Given the description of an element on the screen output the (x, y) to click on. 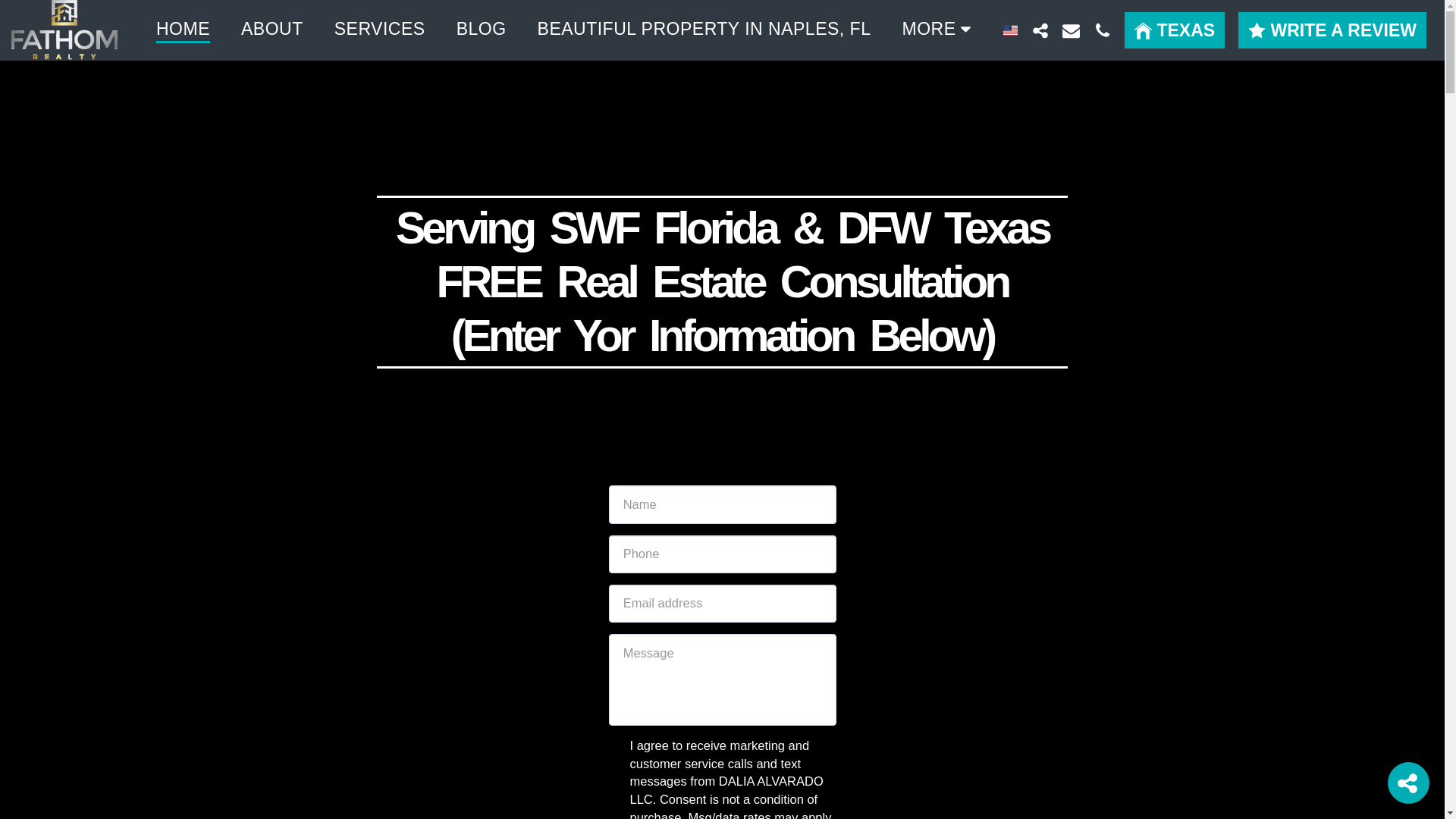
BLOG (481, 29)
  WRITE A REVIEW (1332, 30)
BEAUTIFUL PROPERTY IN NAPLES, FL (704, 29)
MORE   (939, 29)
HOME (183, 29)
  TEXAS (1174, 30)
ABOUT (271, 29)
SERVICES (379, 29)
  WRITE A REVIEW (1331, 30)
